Given the description of an element on the screen output the (x, y) to click on. 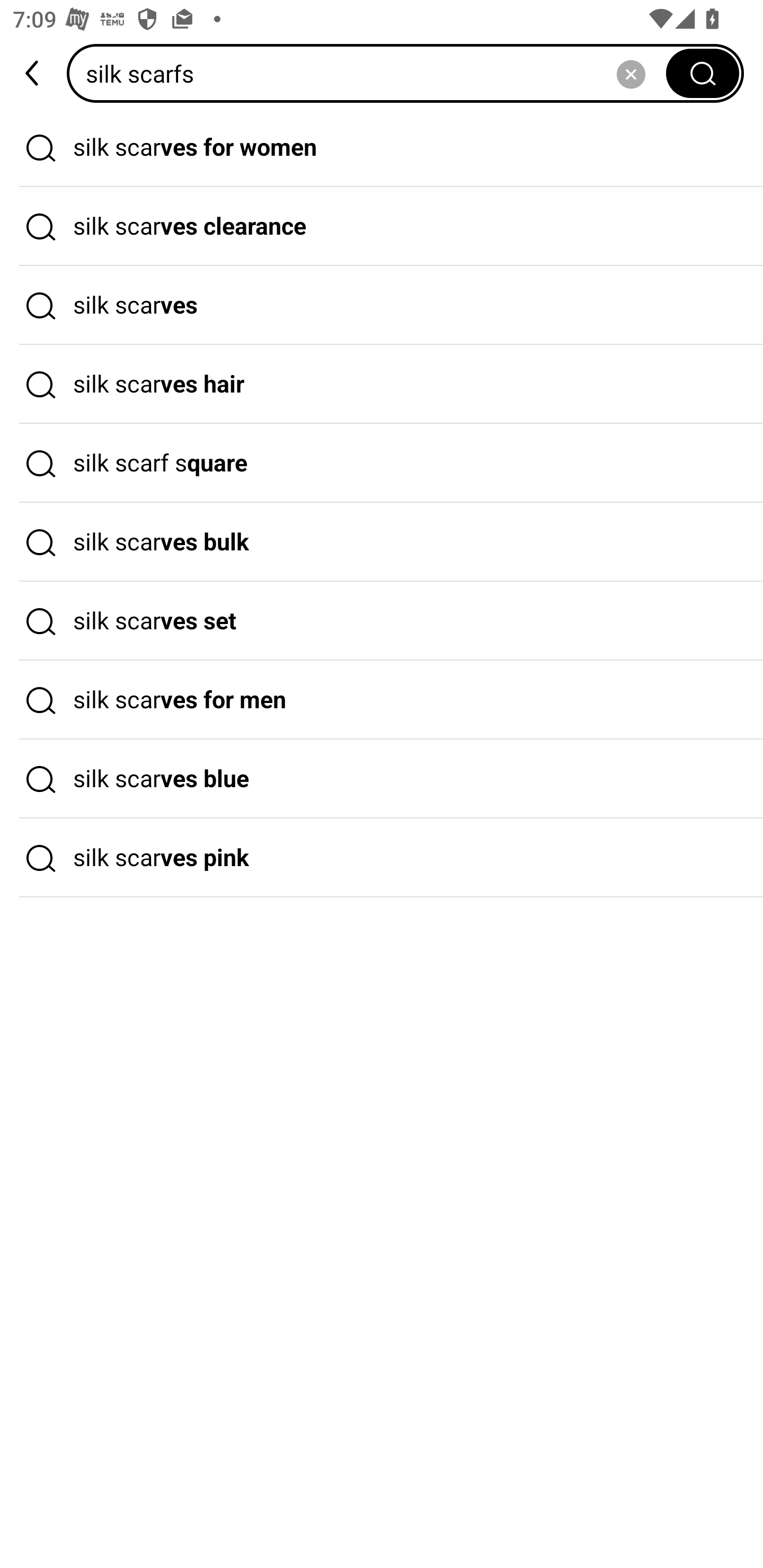
back (33, 72)
silk scarfs (372, 73)
Delete search history (630, 73)
silk scarves for women (381, 147)
silk scarves clearance (381, 226)
silk scarves (381, 305)
silk scarves hair (381, 383)
silk scarf square (381, 463)
silk scarves bulk (381, 542)
silk scarves set (381, 620)
silk scarves for men (381, 700)
silk scarves blue (381, 779)
silk scarves pink (381, 857)
